Given the description of an element on the screen output the (x, y) to click on. 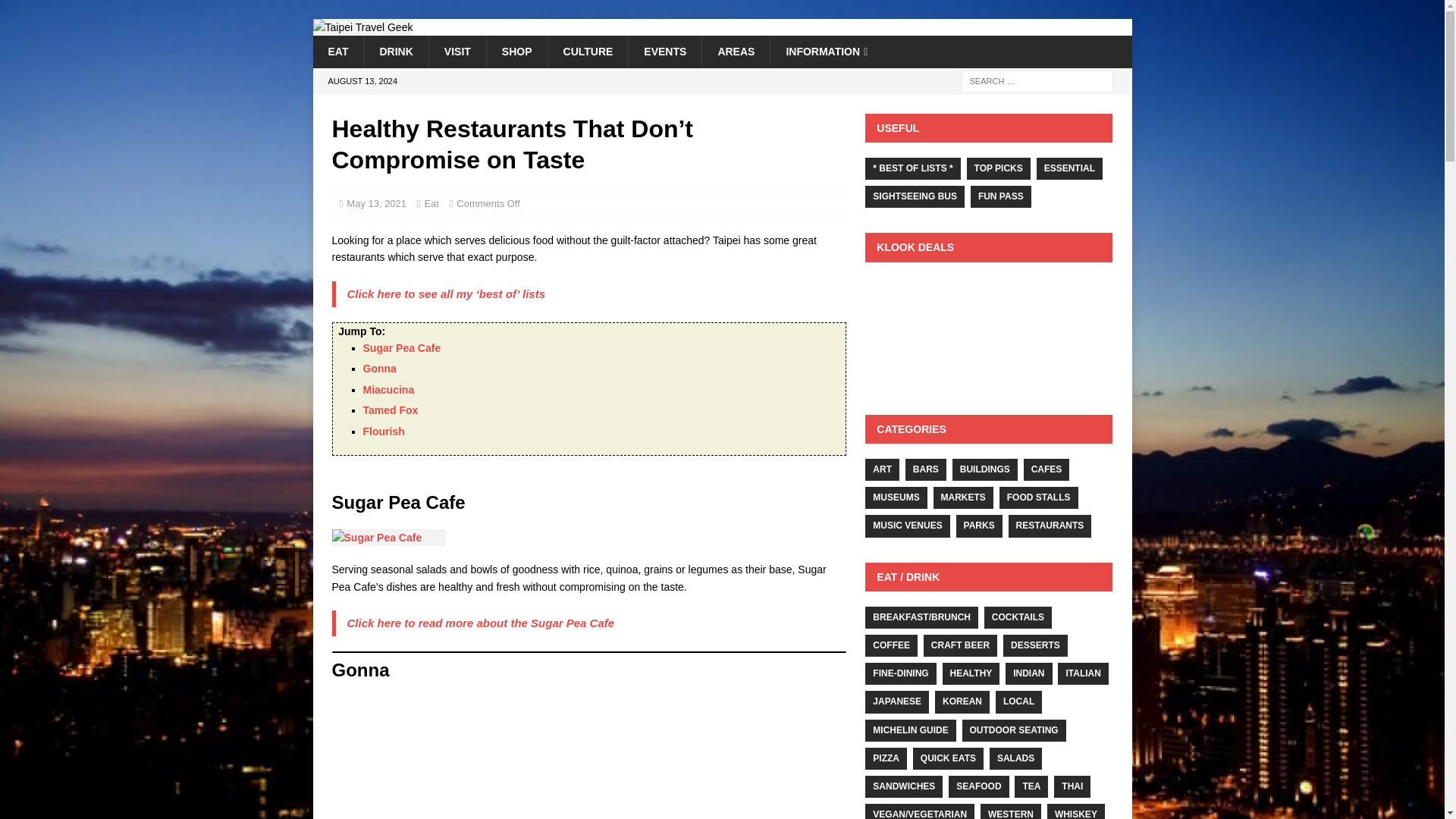
VISIT (457, 51)
AREAS (735, 51)
INFORMATION (826, 51)
SHOP (516, 51)
Taipei Travel Geek (362, 27)
EVENTS (664, 51)
EAT (337, 51)
DRINK (395, 51)
CULTURE (587, 51)
